Given the description of an element on the screen output the (x, y) to click on. 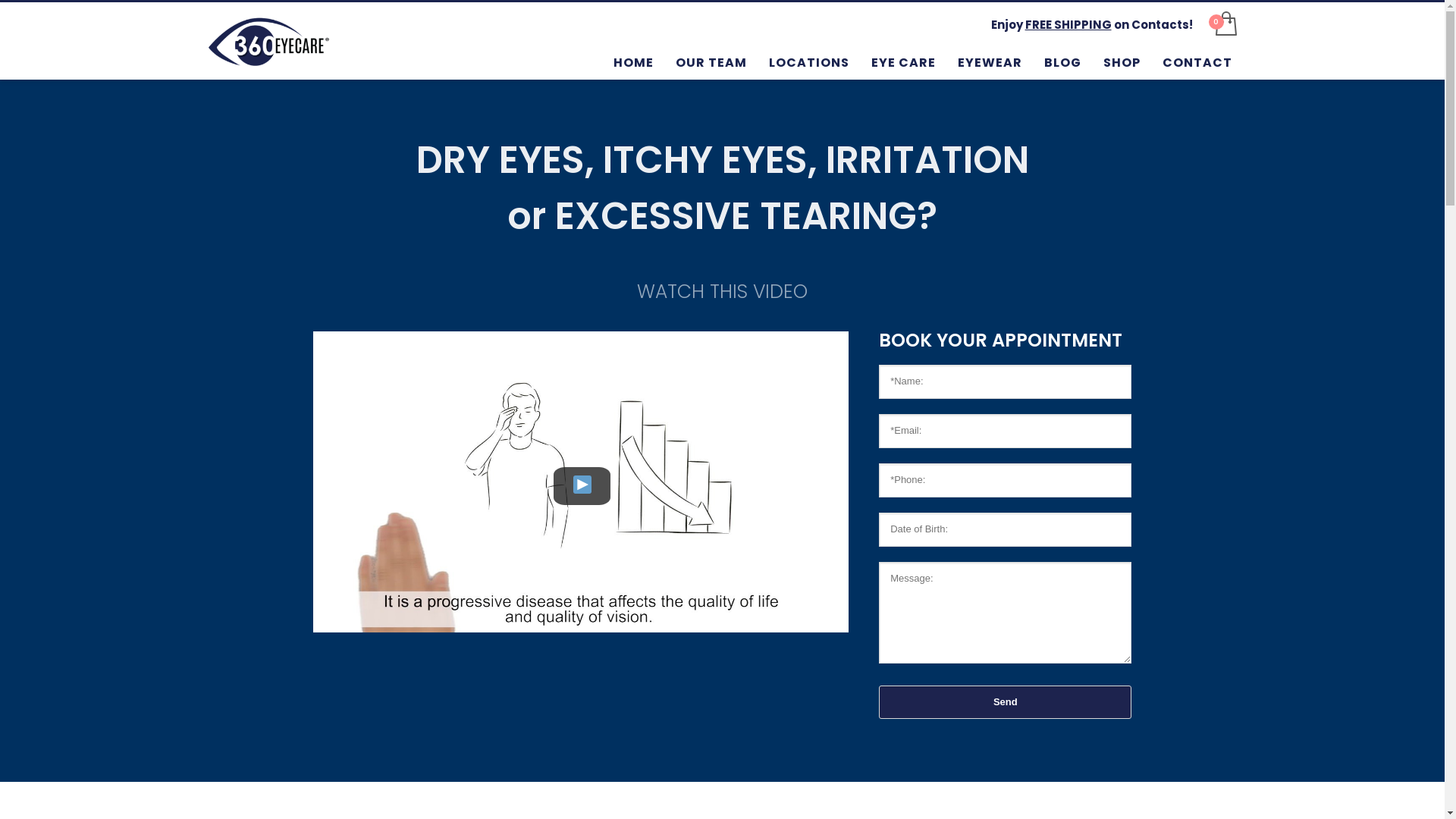
CONTACT Element type: text (1197, 61)
Send Element type: text (1004, 702)
EYE CARE Element type: text (903, 61)
HOME Element type: text (633, 61)
SHOP Element type: text (1121, 61)
BLOG Element type: text (1062, 61)
OUR TEAM Element type: text (711, 61)
View your shopping cart Element type: hover (1225, 24)
EYEWEAR Element type: text (989, 61)
LOCATIONS Element type: text (808, 61)
